Given the description of an element on the screen output the (x, y) to click on. 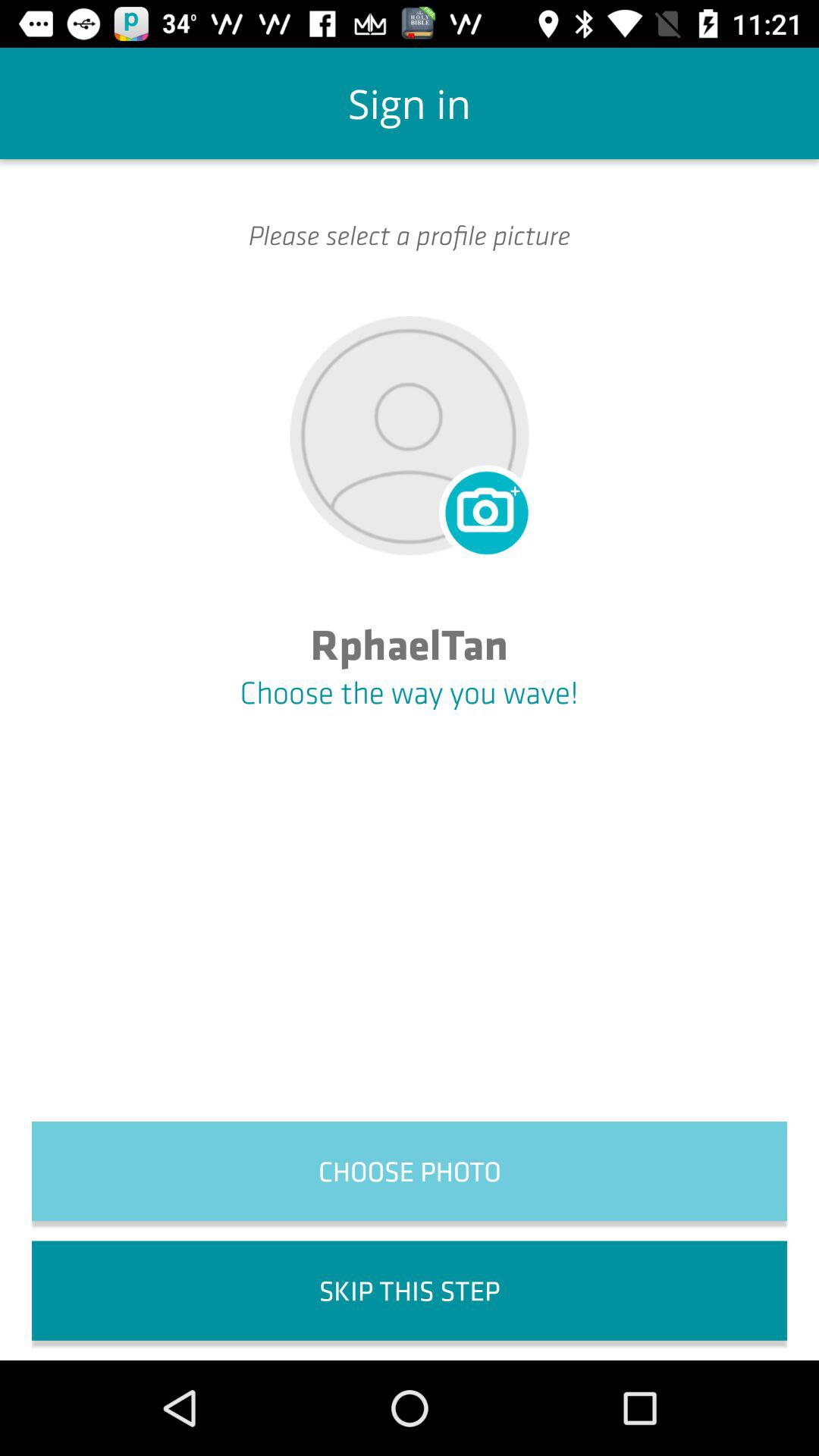
flip to the skip this step item (409, 1290)
